Given the description of an element on the screen output the (x, y) to click on. 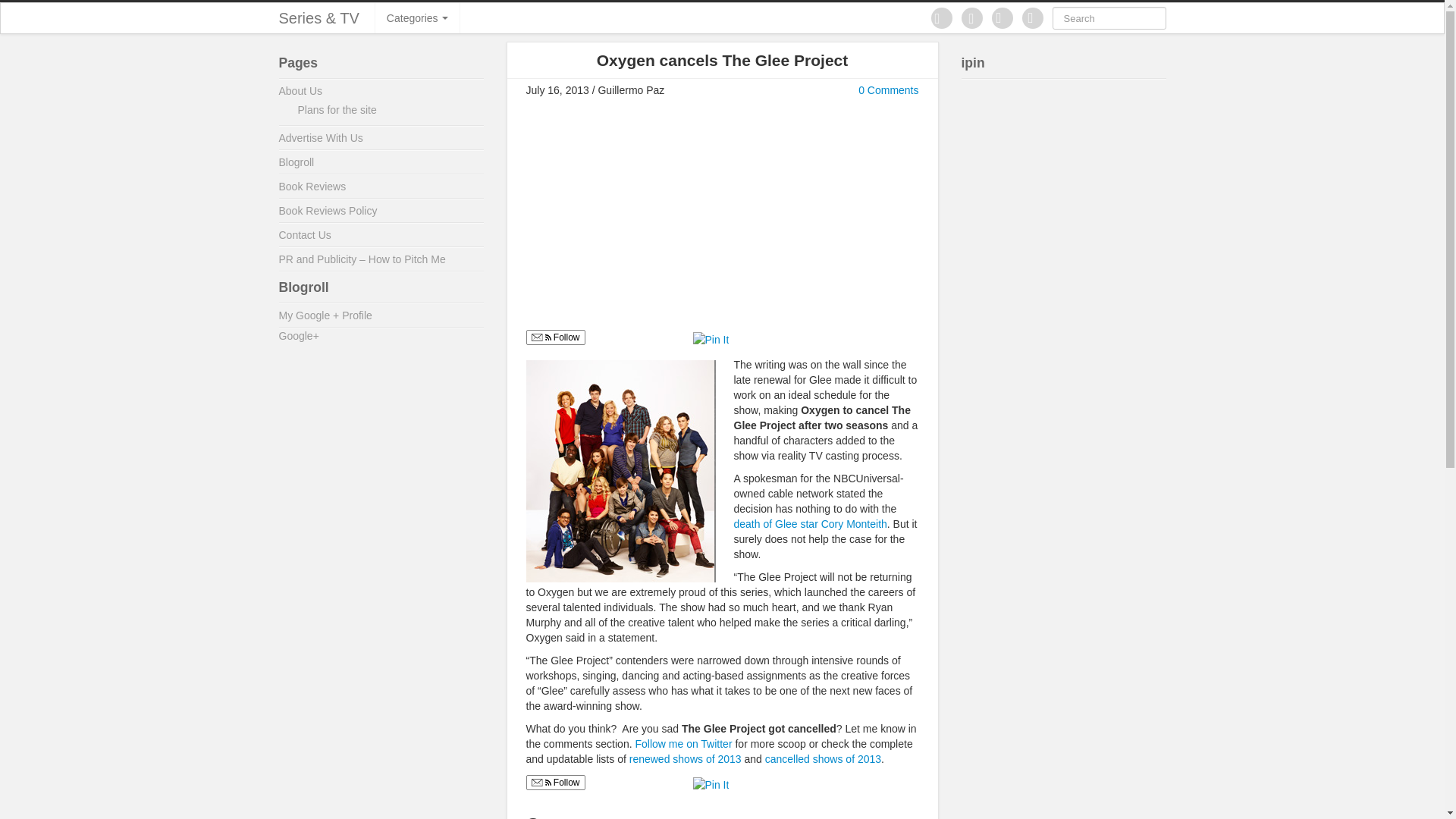
renewed shows of 2013 (684, 758)
Share on Tumblr (791, 337)
Advertisement (652, 219)
Categories (417, 18)
Share on Tumblr (791, 783)
Email, RSS (540, 338)
Follow me on Twitter  (684, 743)
Complete List of Renewed Shows on 2013 (684, 758)
cancelled shows of 2013 (822, 758)
Follow us on Pinterest (941, 17)
Email, RSS (540, 783)
Subscribe to our RSS Feed (1032, 17)
Share on Tumblr (791, 337)
Follow (555, 782)
0 Comments (888, 90)
